Given the description of an element on the screen output the (x, y) to click on. 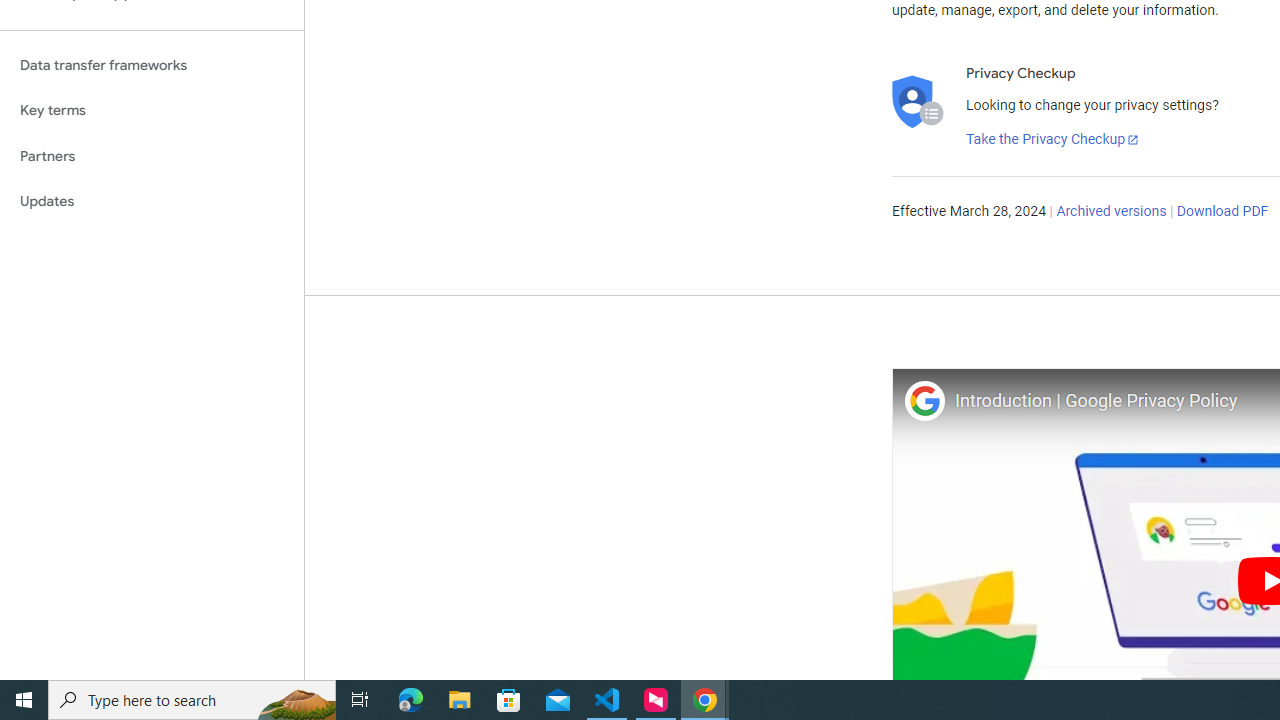
Archived versions (1111, 212)
Take the Privacy Checkup (1053, 140)
Data transfer frameworks (152, 65)
Photo image of Google (924, 400)
Key terms (152, 110)
Updates (152, 201)
Partners (152, 156)
Download PDF (1222, 212)
